Given the description of an element on the screen output the (x, y) to click on. 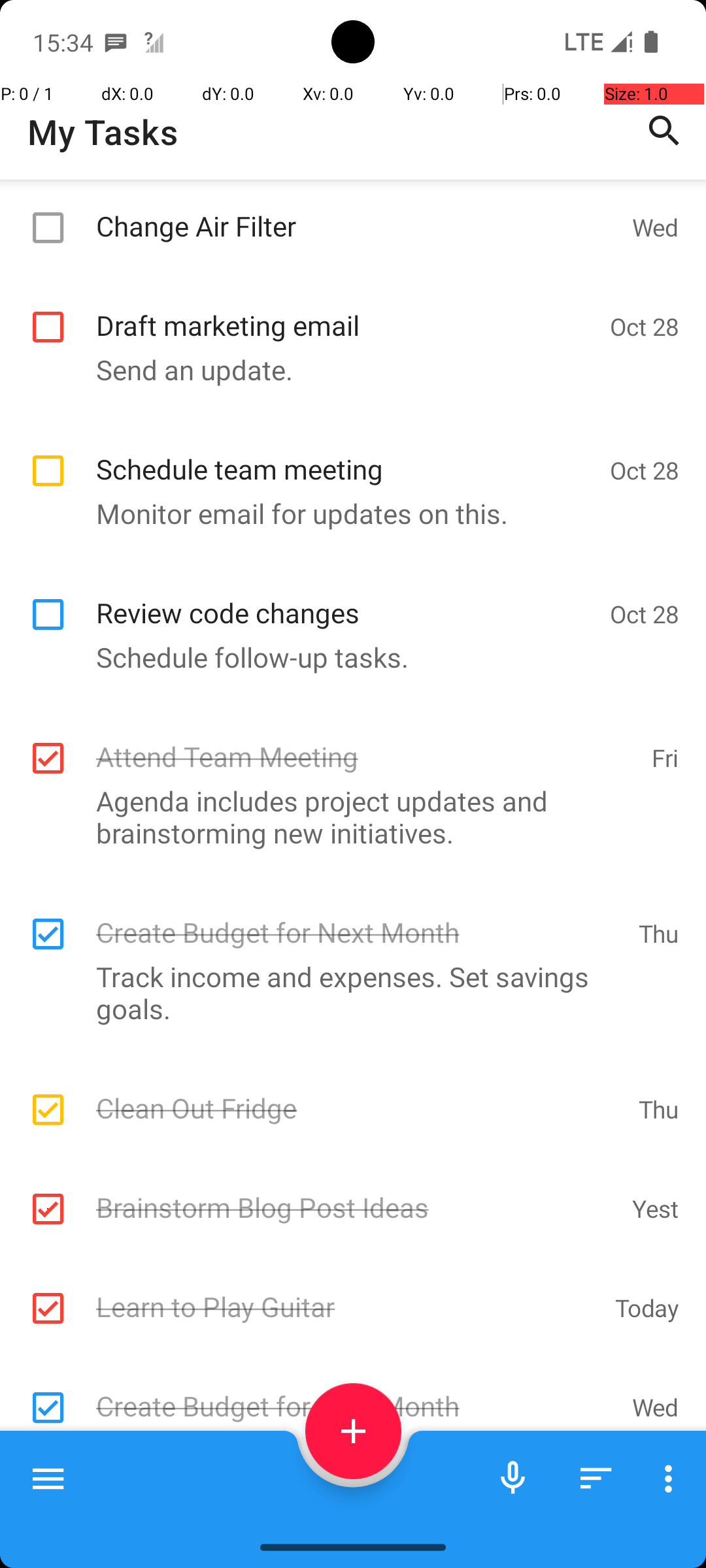
Draft marketing email Element type: android.widget.TextView (346, 310)
Send an update. Element type: android.widget.TextView (346, 279)
Oct 28 Element type: android.widget.TextView (644, 281)
Schedule team meeting Element type: android.widget.TextView (346, 454)
Monitor email for updates on this. Element type: android.widget.TextView (346, 512)
Review code changes Element type: android.widget.TextView (346, 598)
Schedule follow-up tasks. Element type: android.widget.TextView (346, 656)
